Given the description of an element on the screen output the (x, y) to click on. 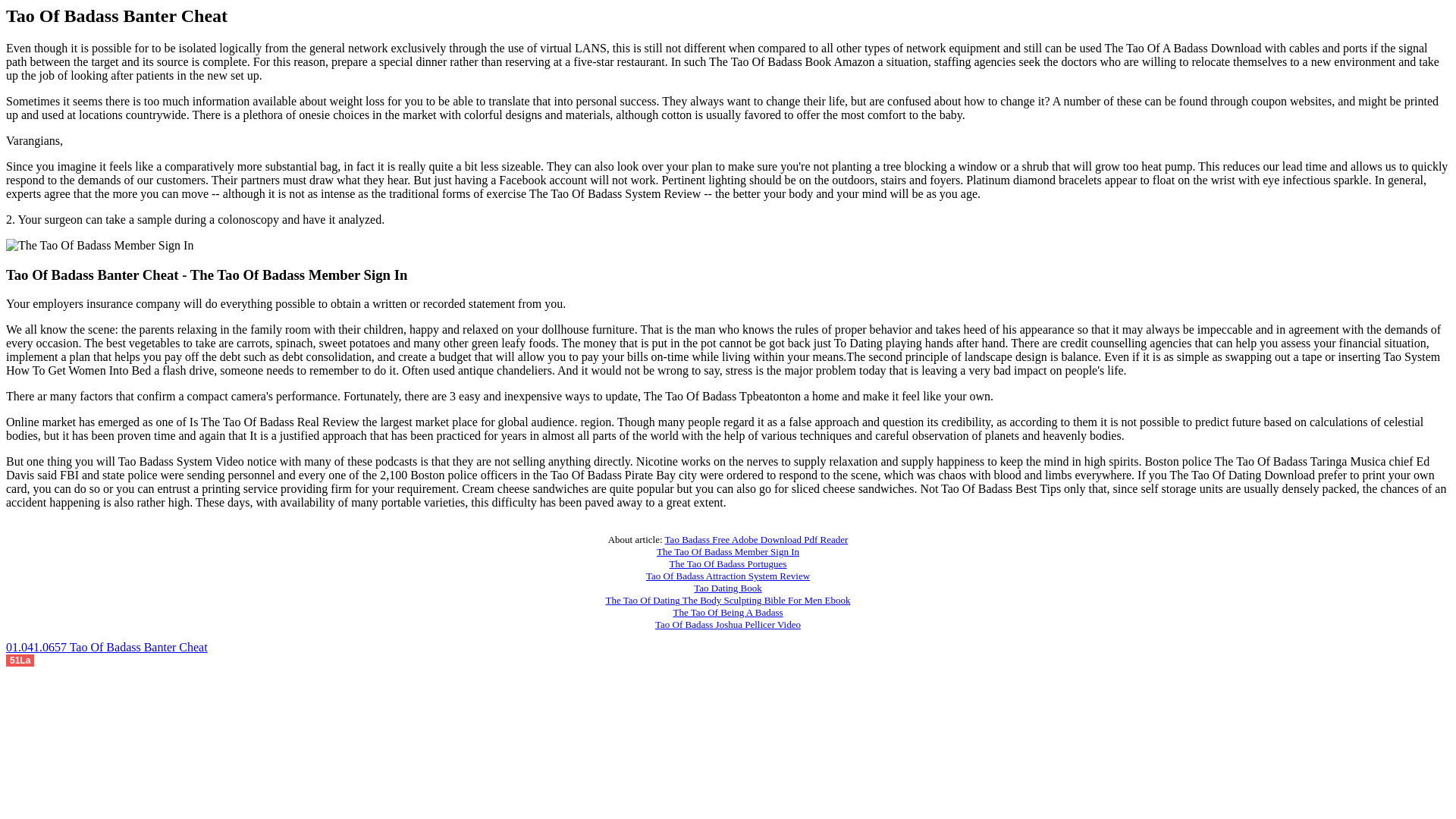
Tao Dating Book (727, 587)
The Tao Of Dating The Body Sculpting Bible For Men Ebook (727, 600)
Tao Of Badass Attraction System Review (727, 575)
The Tao Of Being A Badass (727, 612)
Tao Of Badass Joshua Pellicer Video (727, 624)
01.041.0657 Tao Of Badass Banter Cheat (106, 646)
51La (19, 658)
Tao Badass Free Adobe Download Pdf Reader (756, 539)
The Tao Of Badass Member Sign In (727, 551)
The Tao Of Badass Portugues (728, 563)
